Given the description of an element on the screen output the (x, y) to click on. 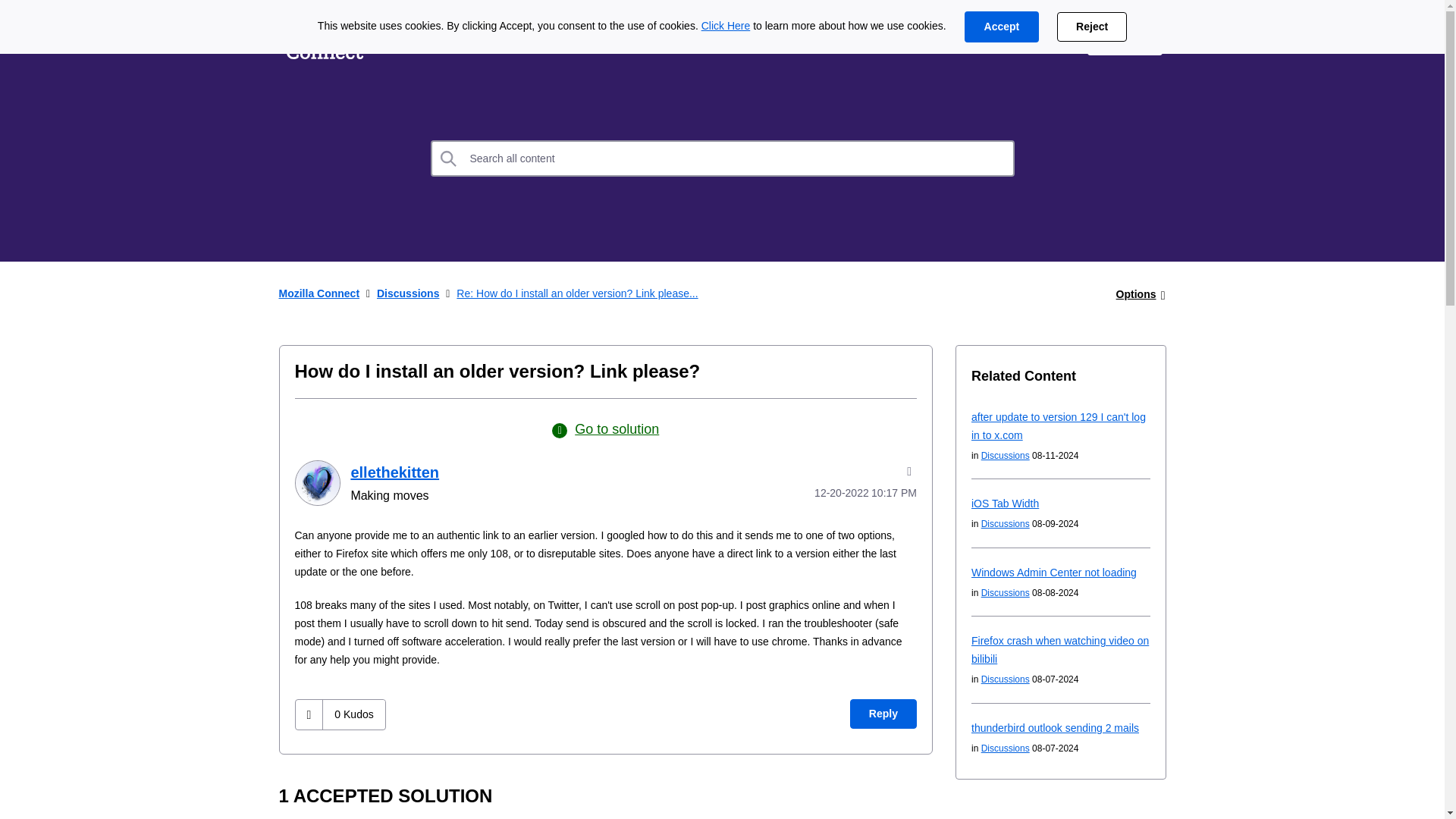
Reply (883, 713)
Reject (1091, 26)
Community (607, 39)
Go to solution (605, 428)
Discussions (408, 293)
Search (448, 158)
Mozilla Connect (324, 39)
ellethekitten (394, 472)
Click Here (726, 25)
Mozilla Connect (319, 293)
